Given the description of an element on the screen output the (x, y) to click on. 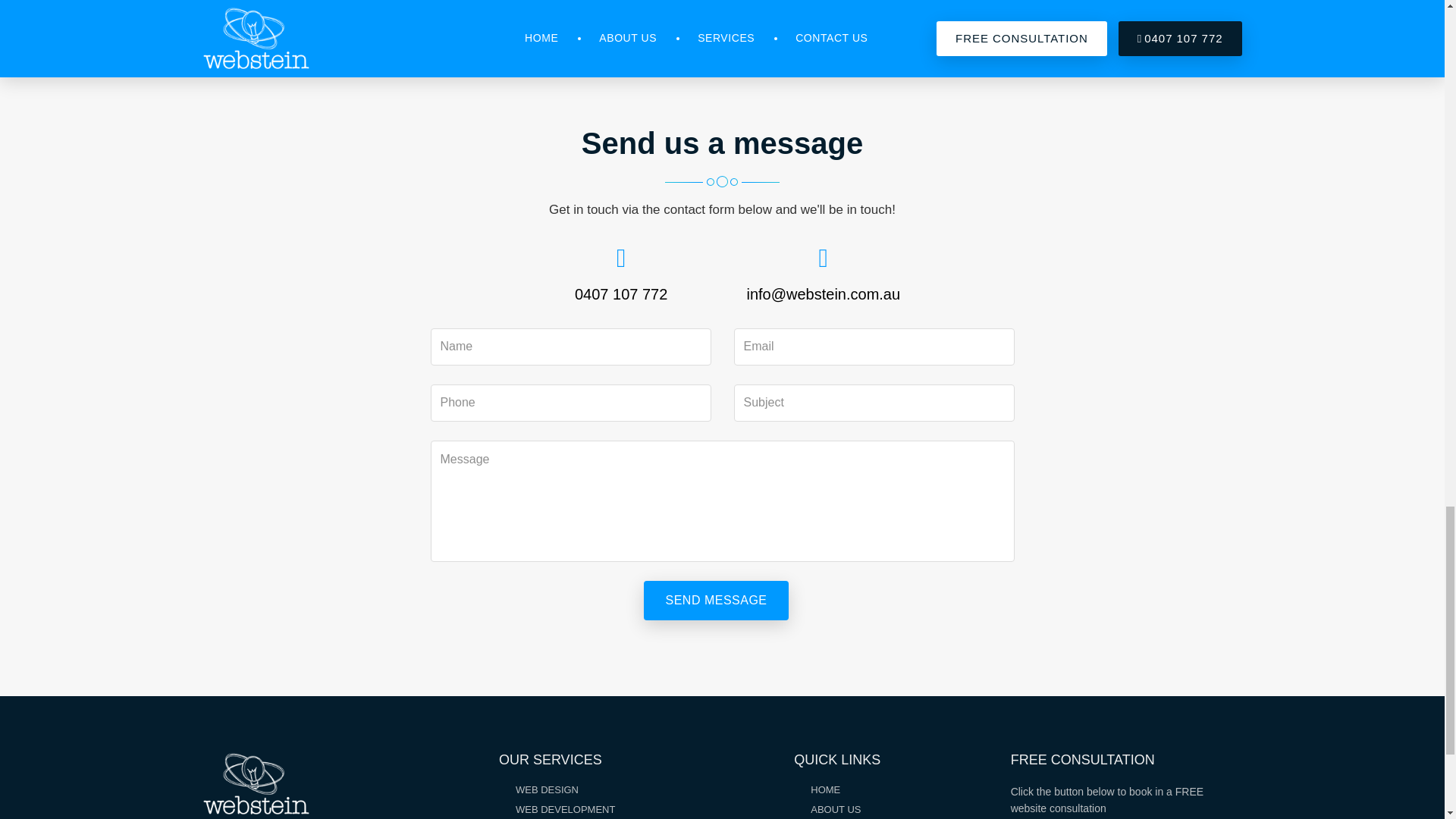
WEB DESIGN (546, 789)
HOME (825, 789)
Send Message (715, 599)
ABOUT US (835, 808)
WEB DEVELOPMENT (564, 808)
0407 107 772 (620, 290)
Send Message (715, 599)
